Given the description of an element on the screen output the (x, y) to click on. 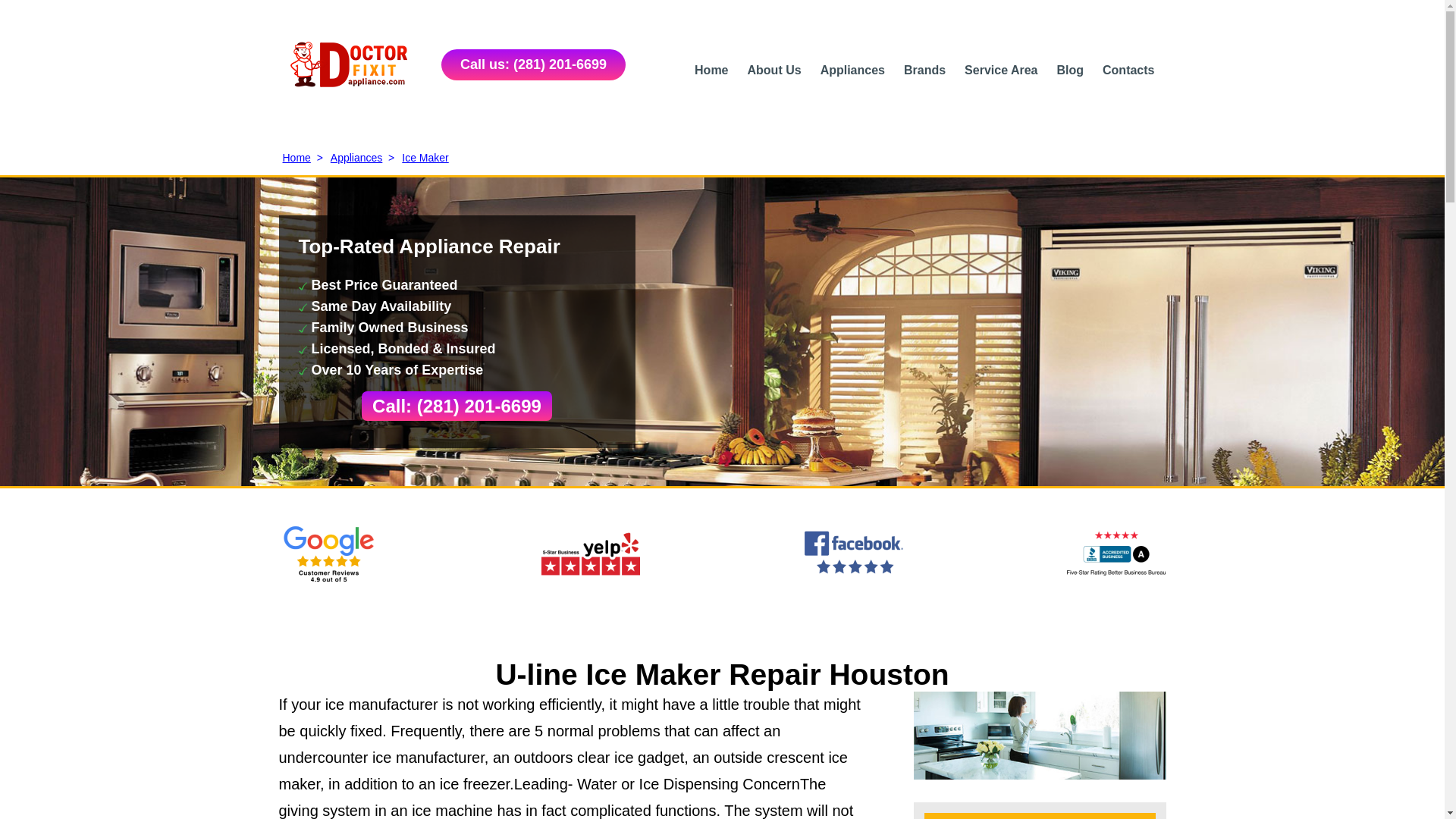
About Us (775, 69)
Brands (924, 69)
Appliances (853, 69)
Home (711, 69)
